Given the description of an element on the screen output the (x, y) to click on. 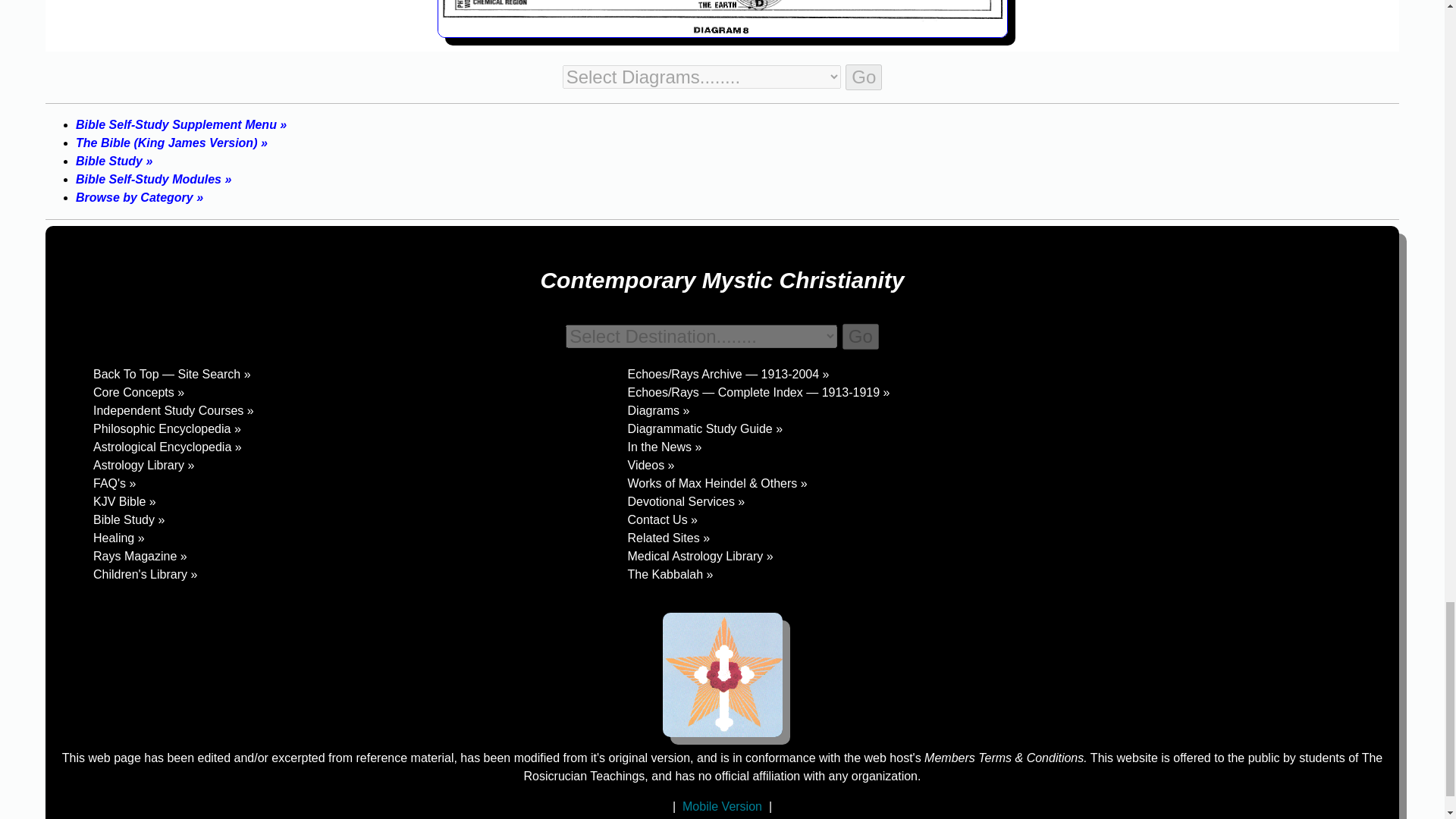
Go (863, 77)
Go (861, 336)
